Given the description of an element on the screen output the (x, y) to click on. 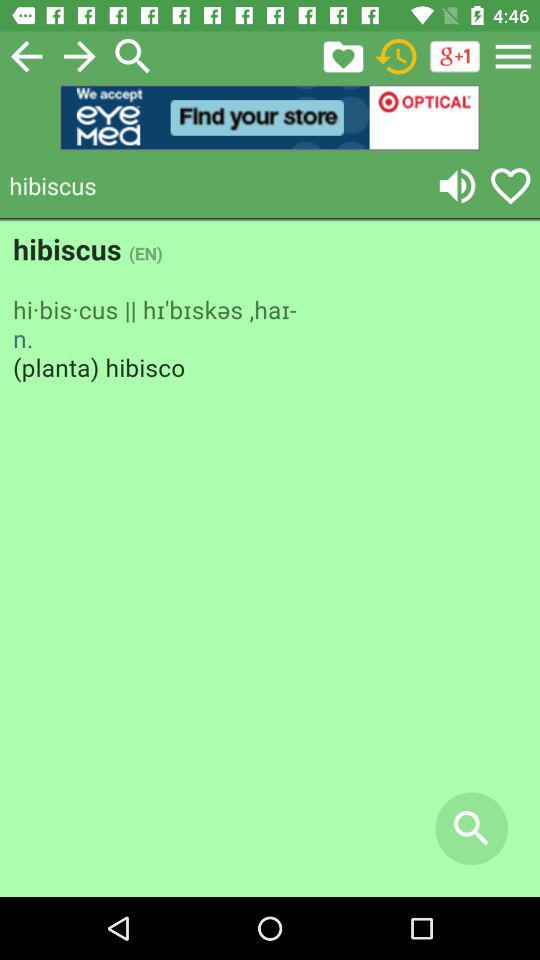
go to previous (26, 56)
